Given the description of an element on the screen output the (x, y) to click on. 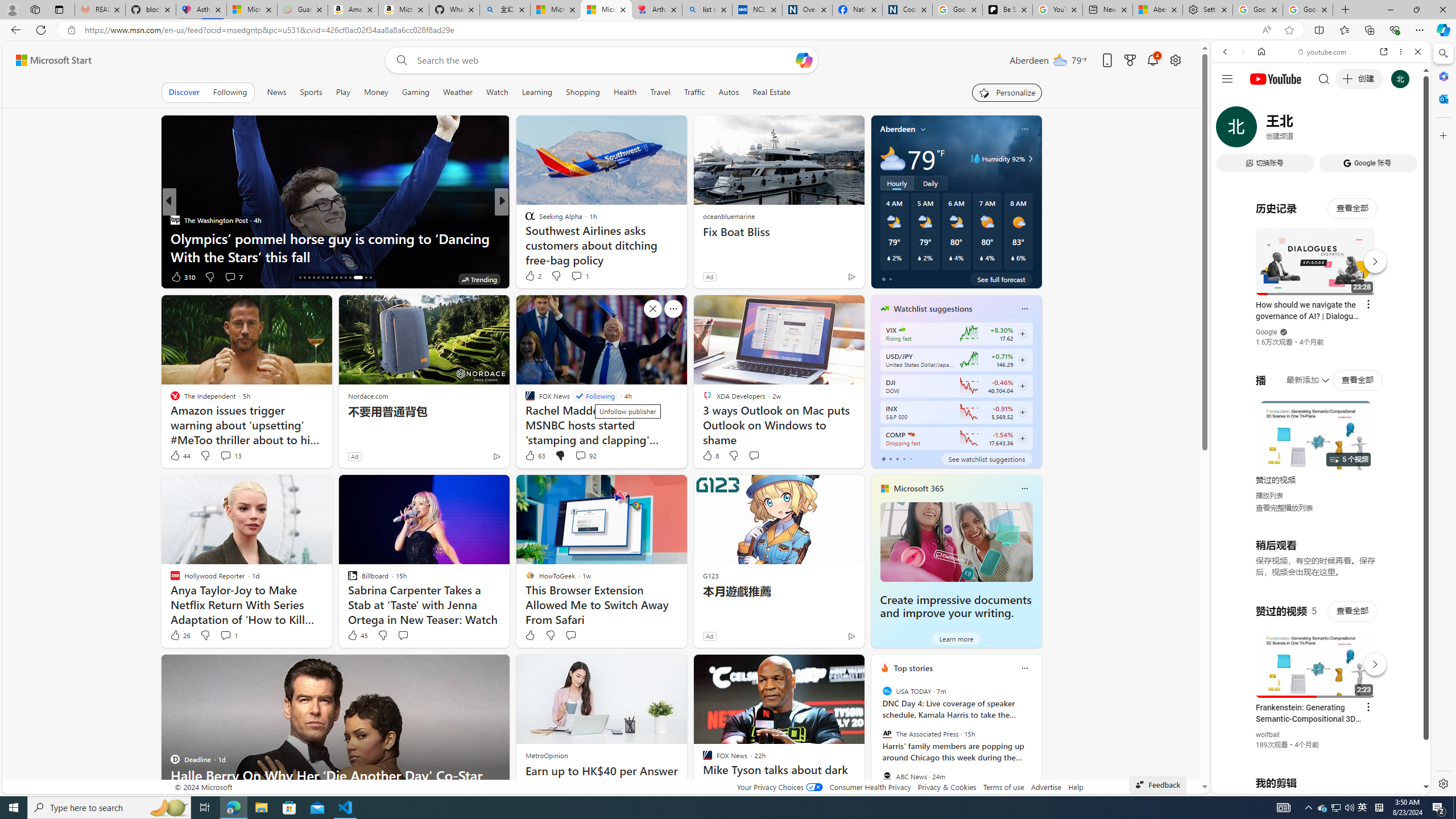
See full forecast (1000, 278)
View comments 1 Comment (228, 634)
Asthma Inhalers: Names and Types (201, 9)
Open link in new tab (1383, 51)
Play (342, 92)
Class: follow-button  m (1021, 438)
Fix Boat Bliss (778, 232)
Following (229, 92)
YouTube - YouTube (1315, 560)
Business Insider (174, 219)
